Given the description of an element on the screen output the (x, y) to click on. 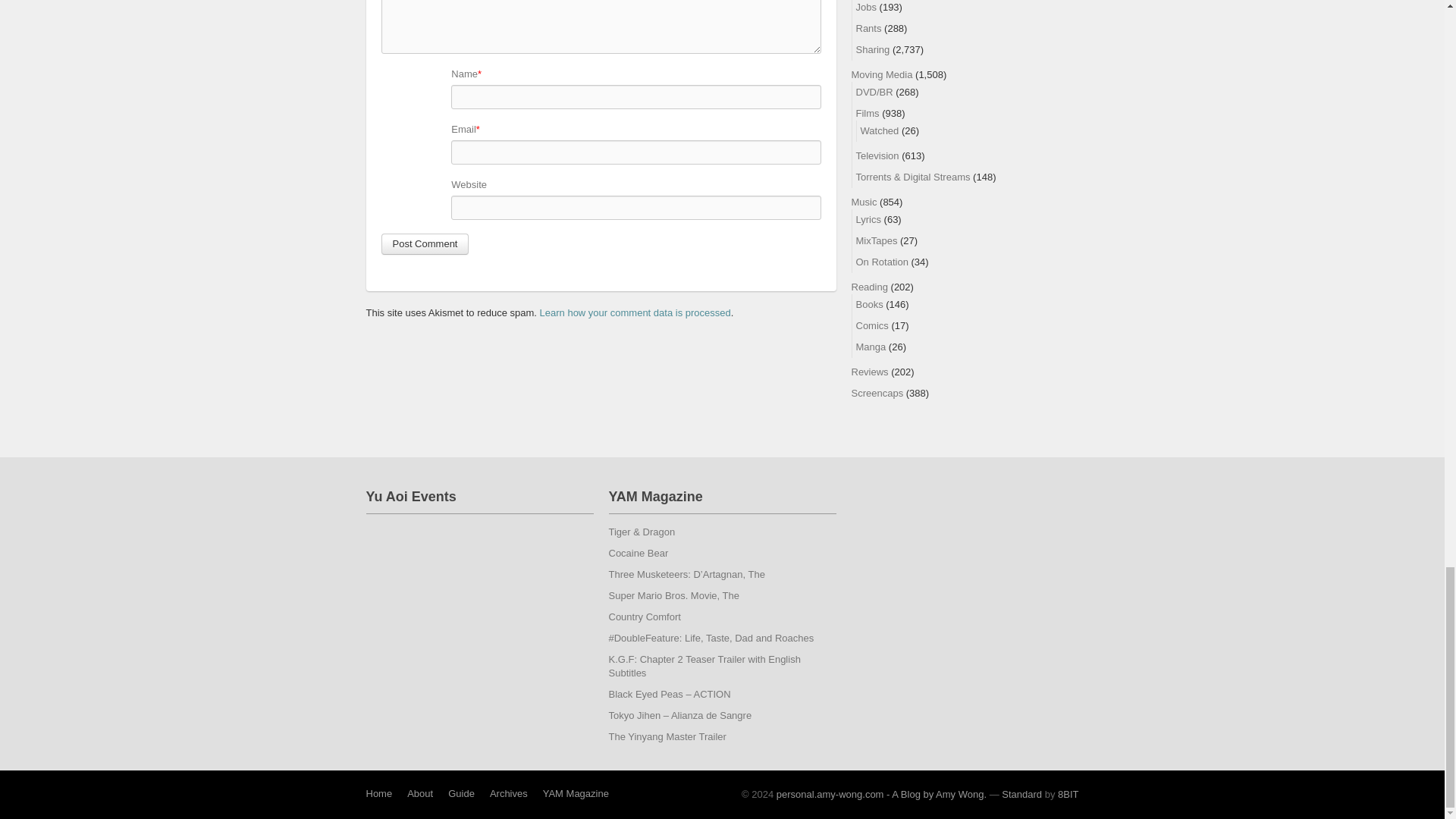
Post Comment (424, 243)
Learn how your comment data is processed (635, 312)
Post Comment (424, 243)
